Given the description of an element on the screen output the (x, y) to click on. 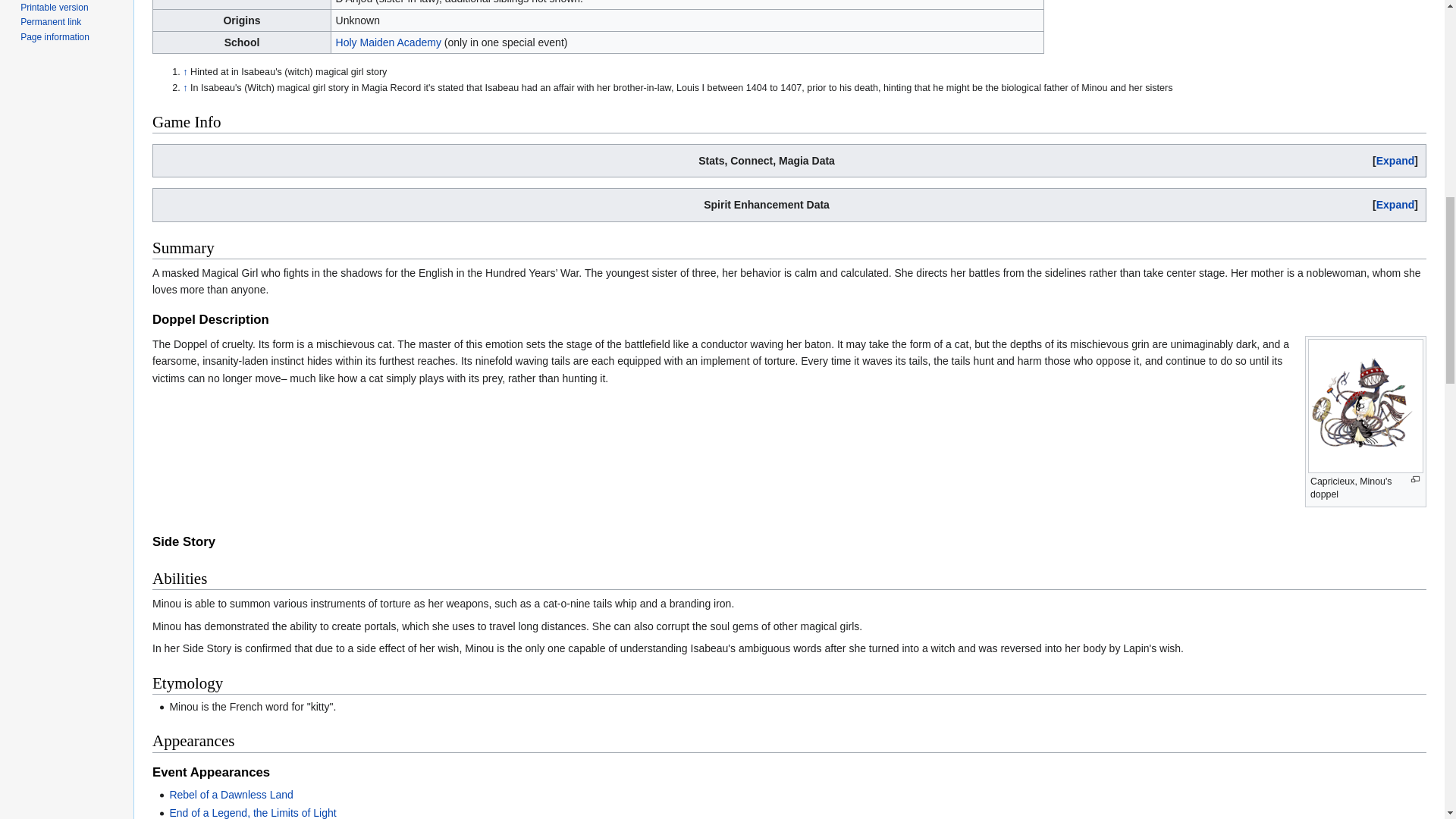
Expand (1395, 160)
Holy Maiden Academy (388, 42)
Holy Maiden Academy Edition (388, 42)
